Given the description of an element on the screen output the (x, y) to click on. 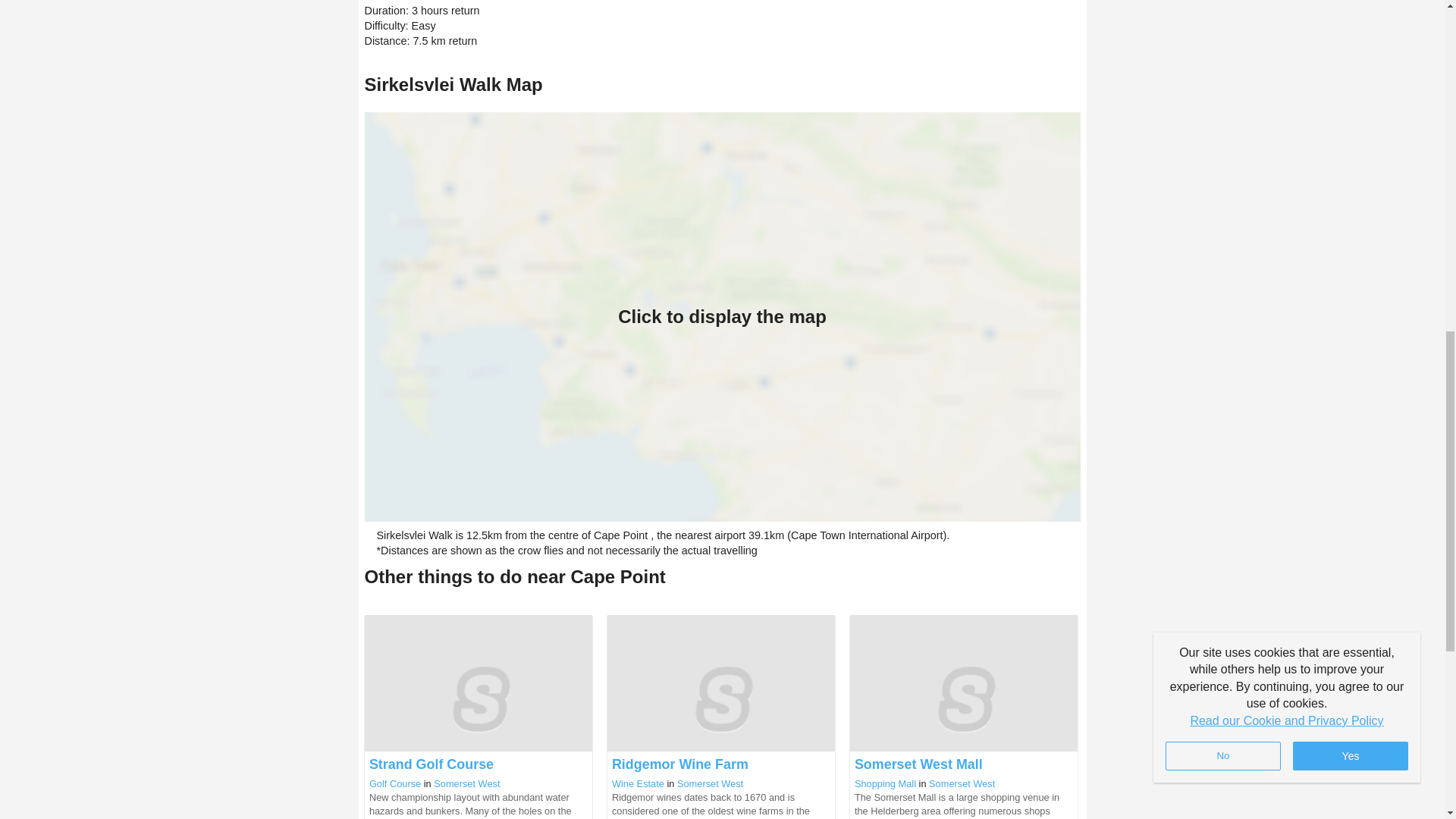
Golf Course (394, 783)
Strand Golf Course (431, 764)
Ridgemor Wine Farm (679, 764)
Ridgemor Wine Farm (679, 764)
Somerset West (961, 783)
Somerset West Mall (918, 764)
Strand Golf Course (431, 764)
Somerset West (709, 783)
Somerset West Mall (918, 764)
Somerset West (466, 783)
Shopping Mall (884, 783)
Wine Estate (637, 783)
